Given the description of an element on the screen output the (x, y) to click on. 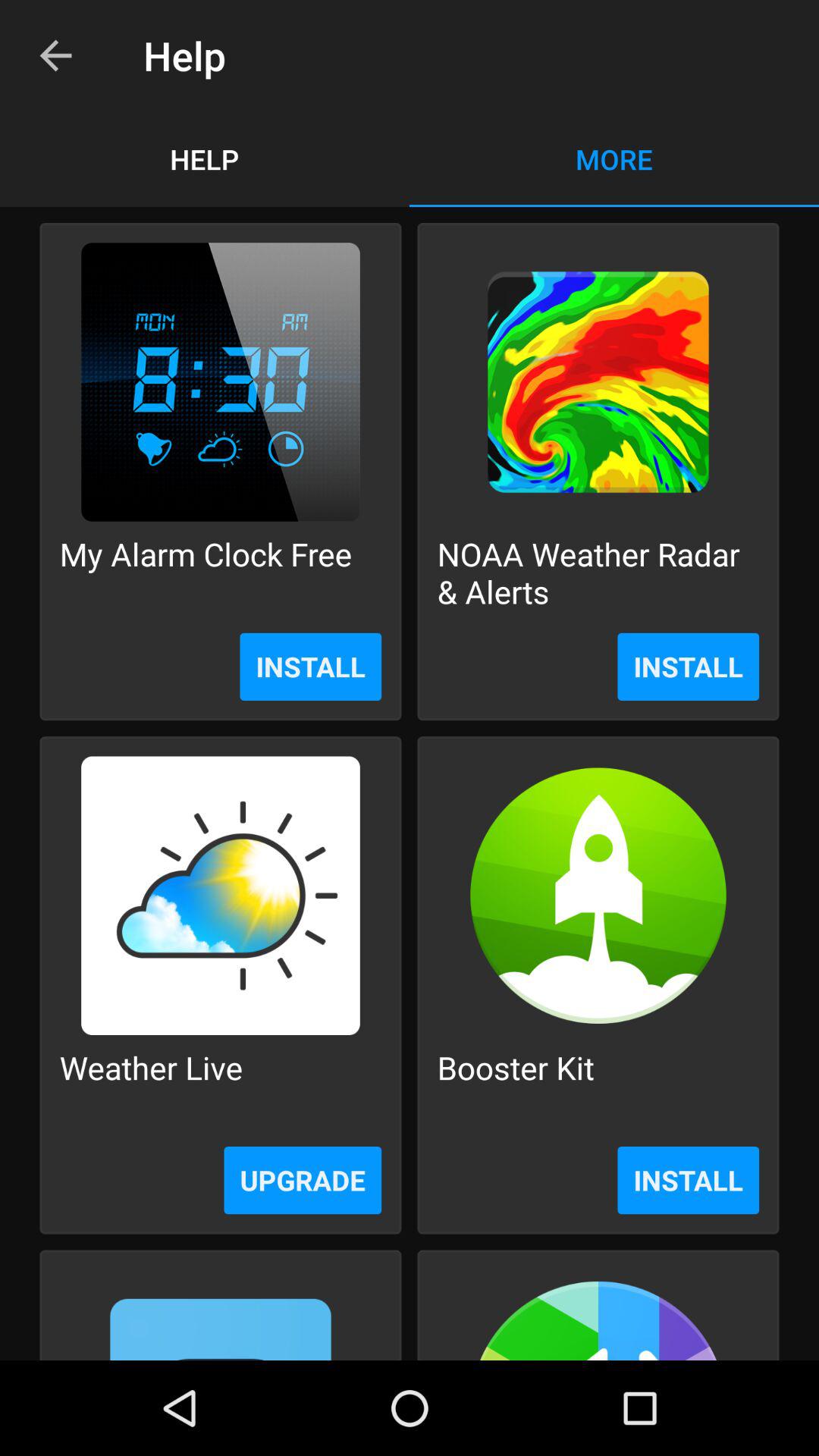
turn on noaa weather radar icon (598, 572)
